Given the description of an element on the screen output the (x, y) to click on. 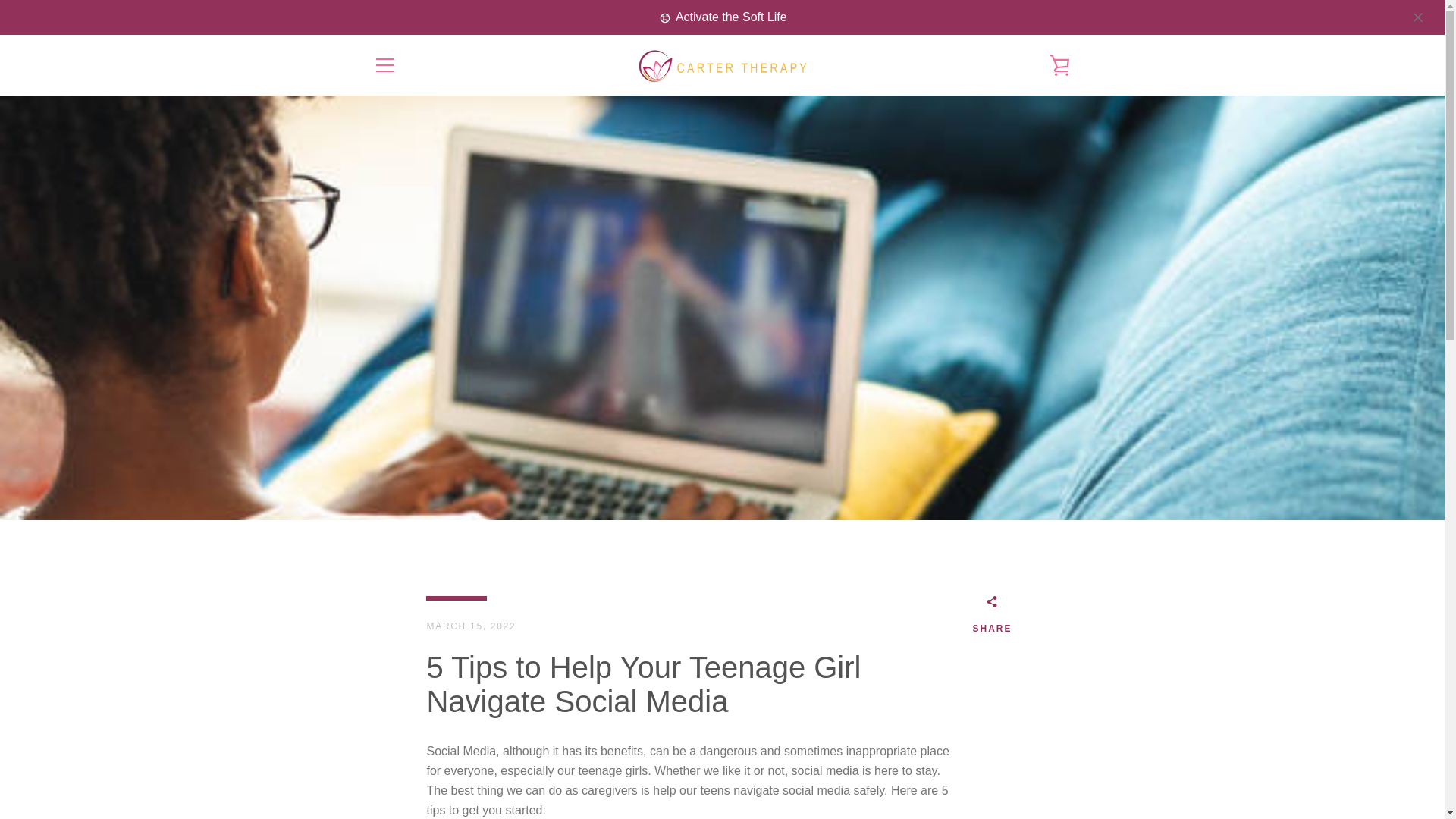
TESTIMONIALS (410, 633)
SHARE (991, 617)
Carter Therapy on Facebook (372, 778)
Carter Therapy on YouTube (424, 778)
REDEEMING YOUR 10-CLASS CARD (462, 655)
SEARCH (394, 611)
VIEW CART (1059, 64)
MENU (384, 64)
Carter Therapy on Instagram (399, 778)
